Given the description of an element on the screen output the (x, y) to click on. 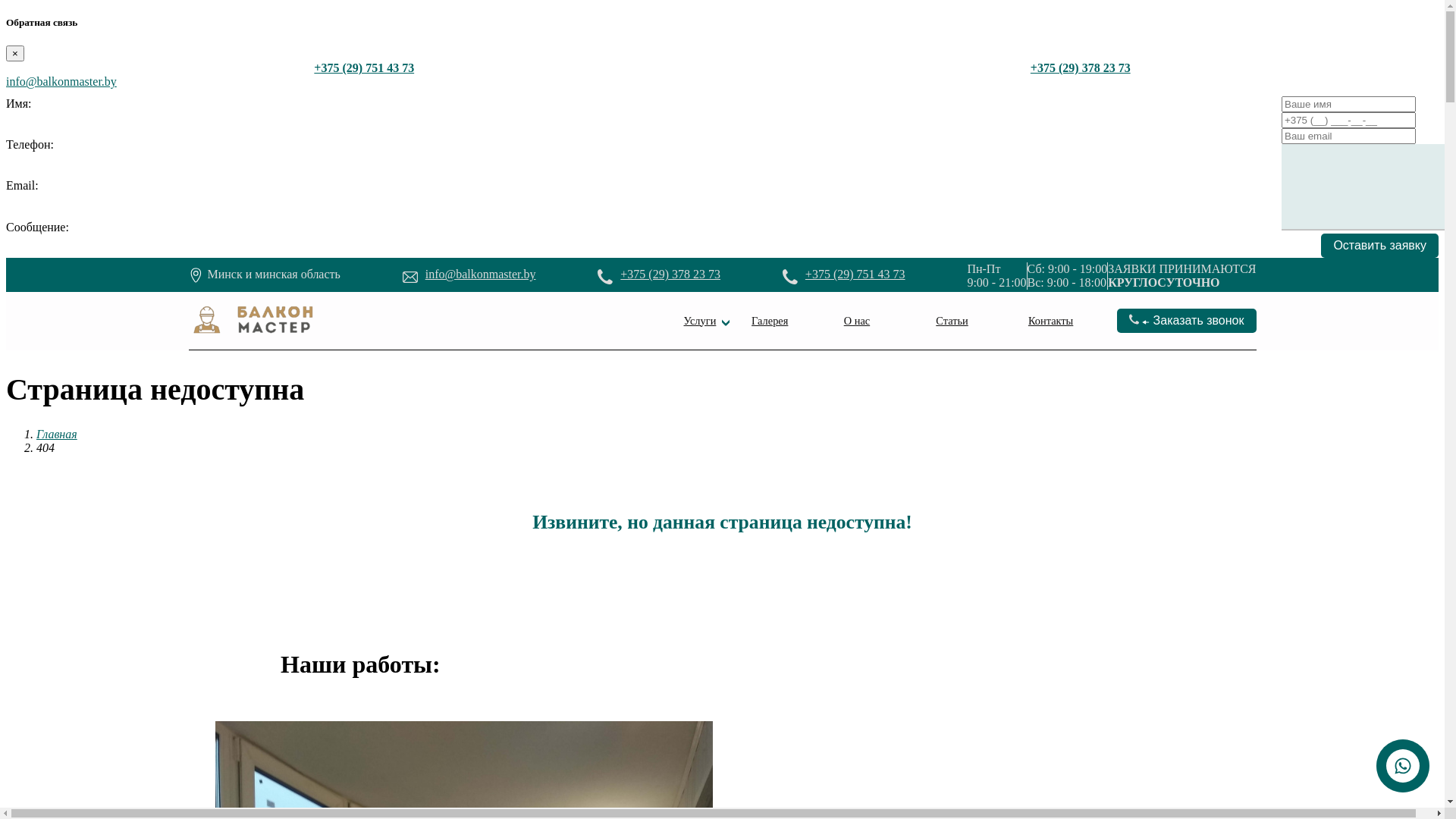
+375 (29) 751 43 73 Element type: text (855, 273)
info@balkonmaster.by Element type: text (61, 81)
+375 (29) 378 23 73 Element type: text (1080, 67)
+375 (29) 751 43 73 Element type: text (363, 67)
+375 (29) 378 23 73 Element type: text (670, 273)
info@balkonmaster.by Element type: text (480, 273)
